Given the description of an element on the screen output the (x, y) to click on. 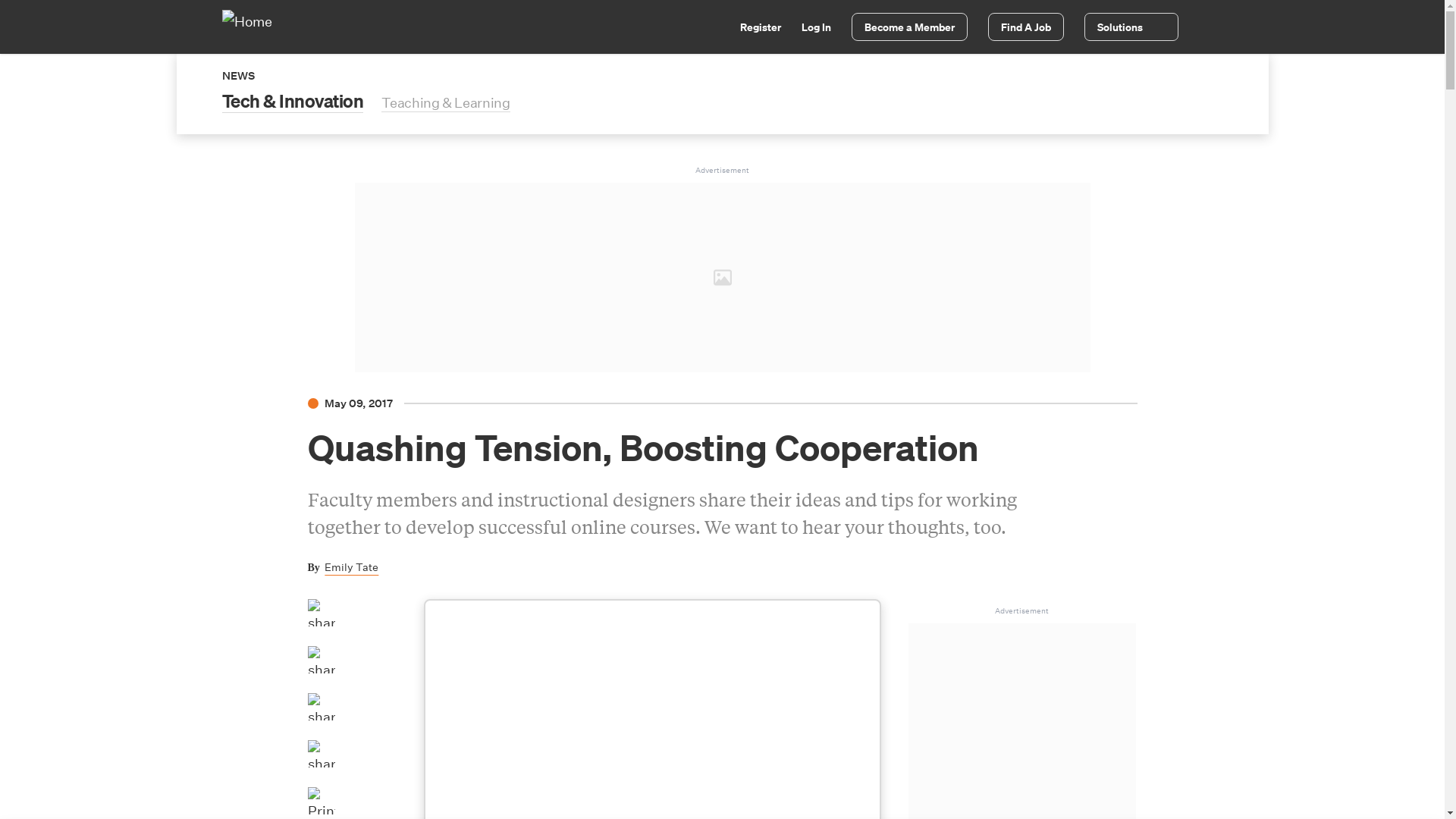
share to twitter (320, 659)
Search (711, 28)
share by email (320, 753)
Find A Job (1024, 26)
share to facebook (320, 612)
Home (255, 26)
share to Linkedin (320, 706)
Become a Member (908, 26)
